Given the description of an element on the screen output the (x, y) to click on. 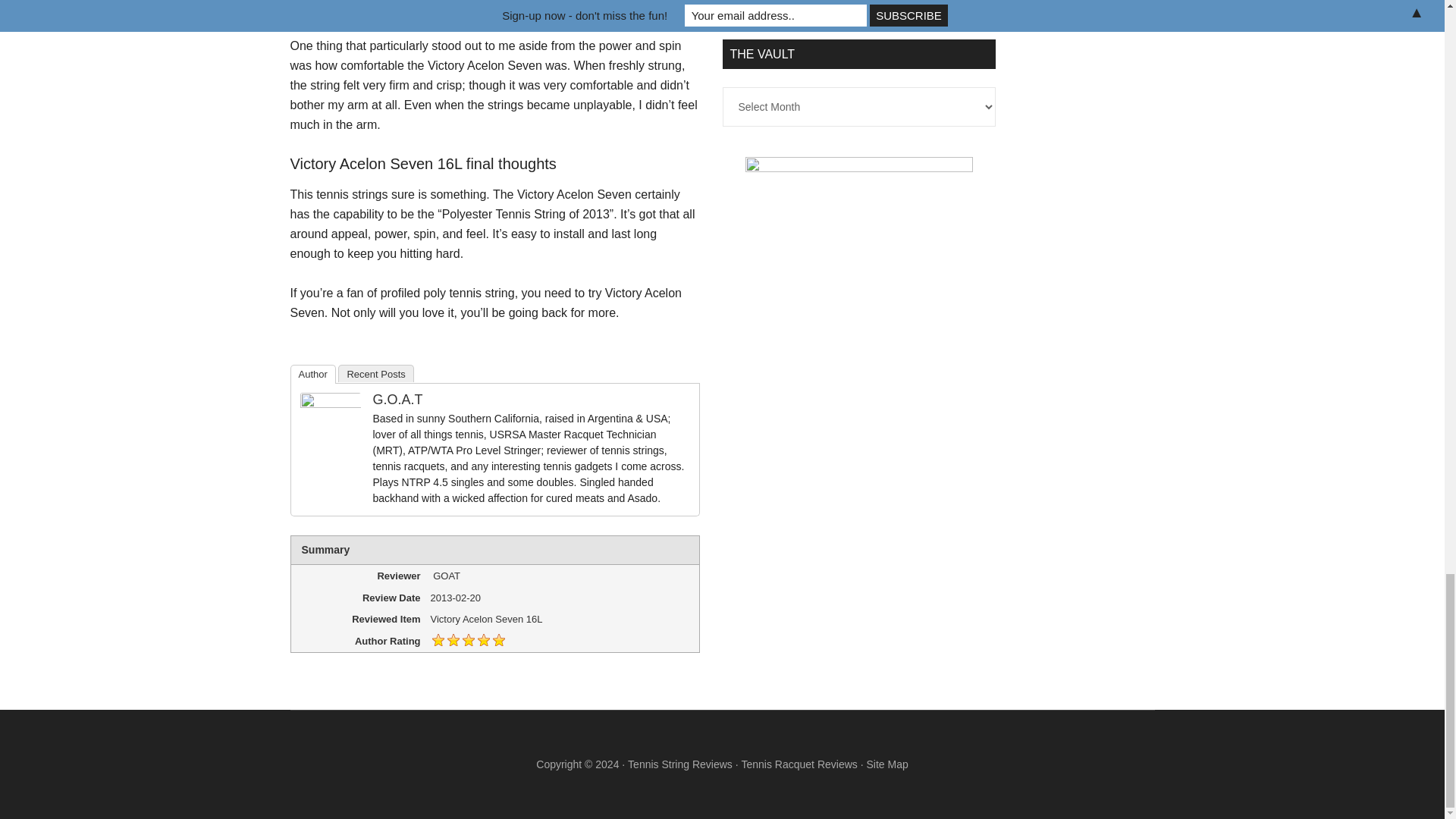
Recent Posts (375, 373)
G.O.A.T (397, 399)
Author (311, 374)
Site Map (886, 764)
